Given the description of an element on the screen output the (x, y) to click on. 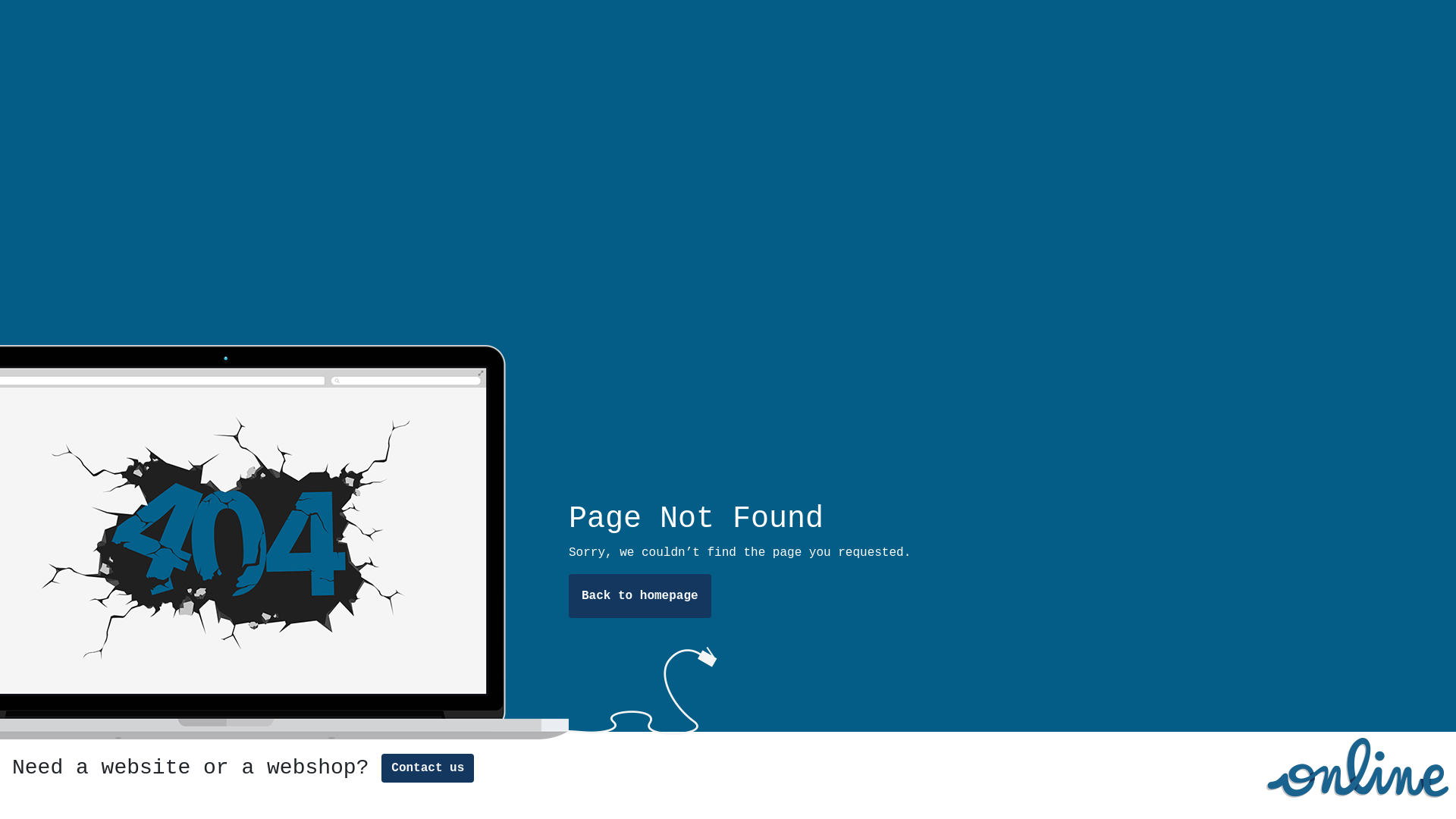
Back to homepage Element type: text (639, 596)
Contact us Element type: text (427, 767)
